Given the description of an element on the screen output the (x, y) to click on. 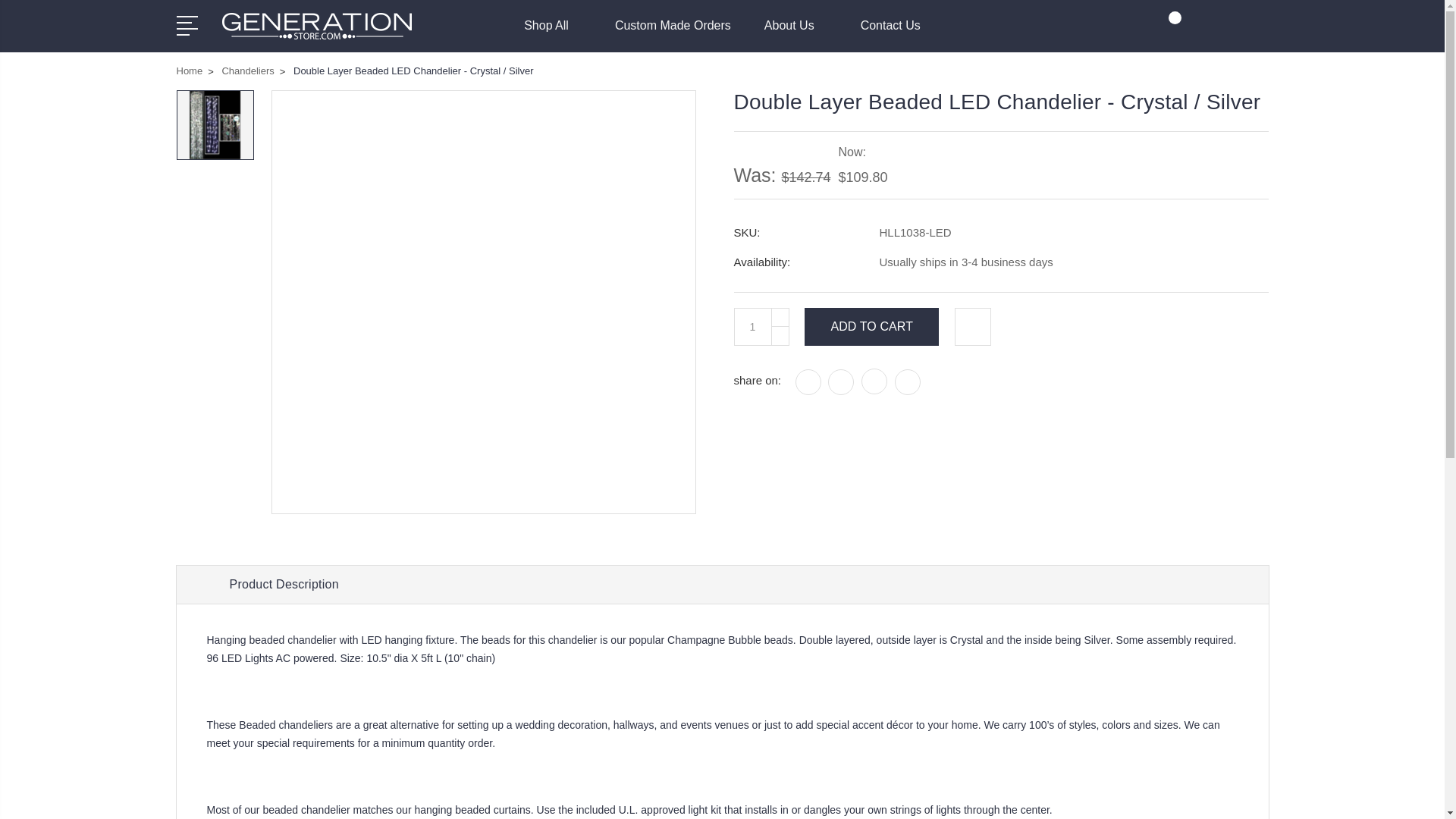
Shop All (552, 34)
1 (752, 326)
Contact Us (890, 34)
About Us (795, 34)
Custom Made Orders (672, 34)
Add to Cart (872, 326)
GenerationStore.com (315, 26)
